Given the description of an element on the screen output the (x, y) to click on. 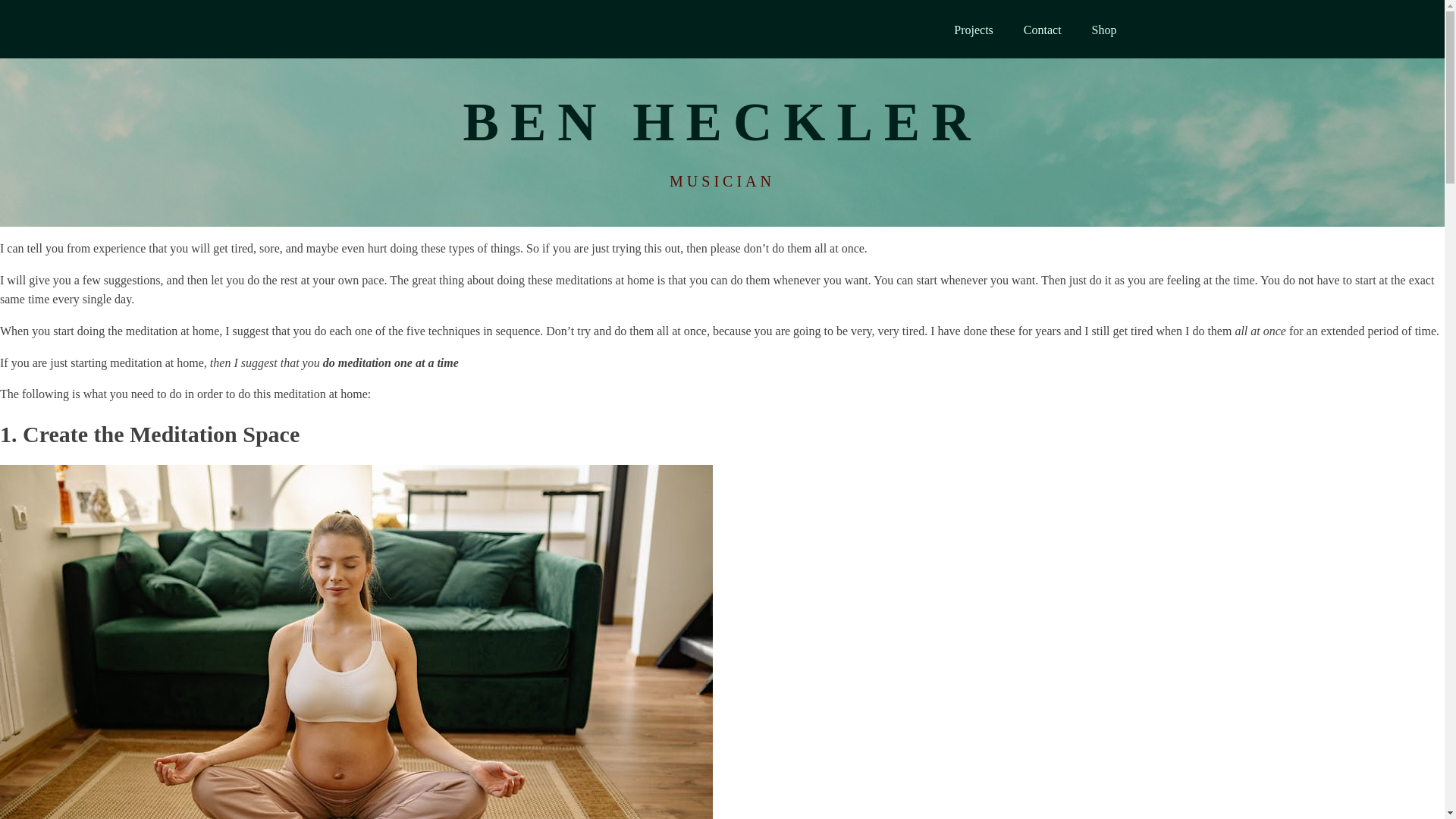
BEN HECKLER (722, 115)
Contact (1043, 29)
Shop (1104, 29)
Projects (974, 29)
